Given the description of an element on the screen output the (x, y) to click on. 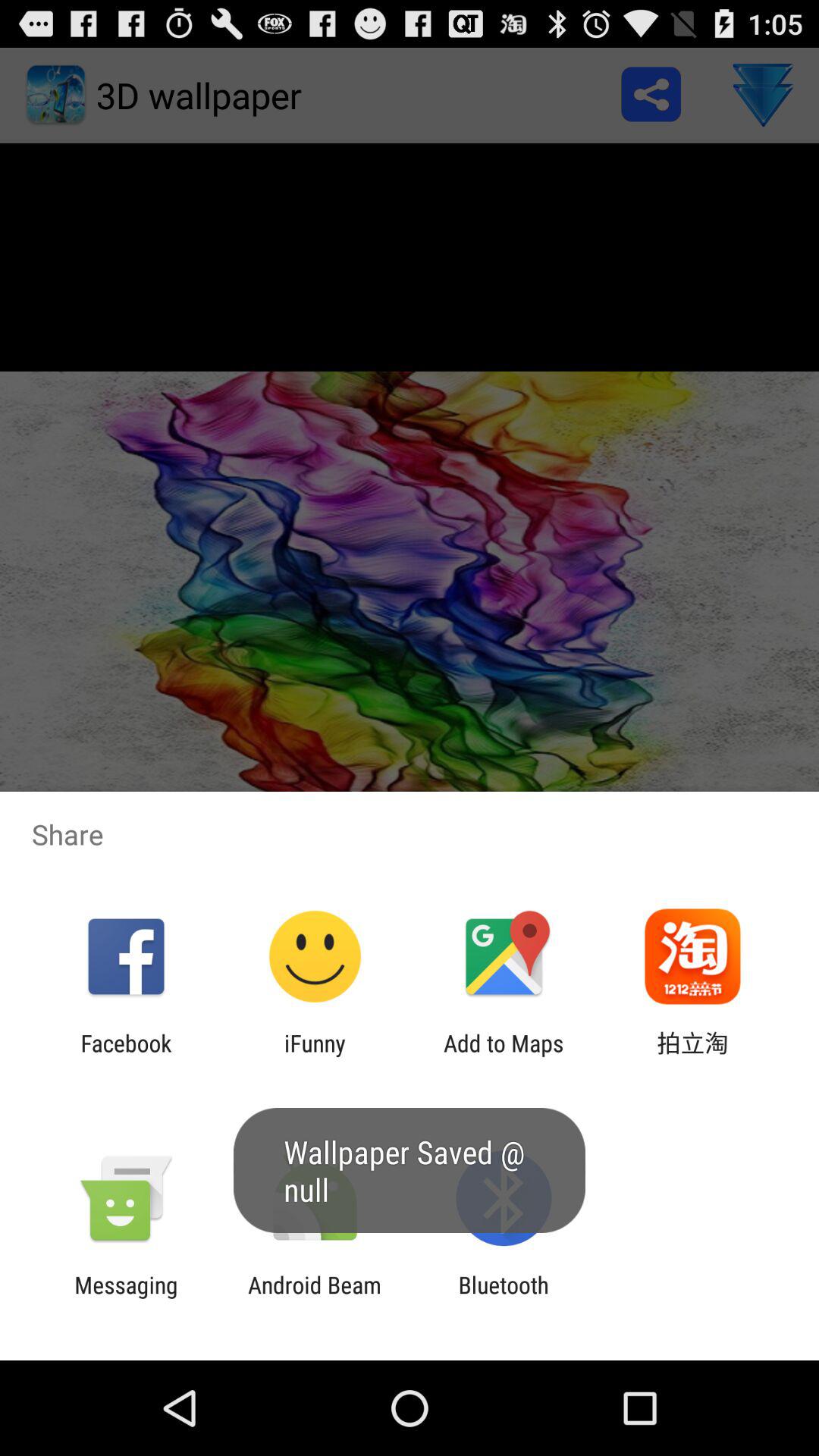
open the icon to the left of bluetooth (314, 1298)
